Given the description of an element on the screen output the (x, y) to click on. 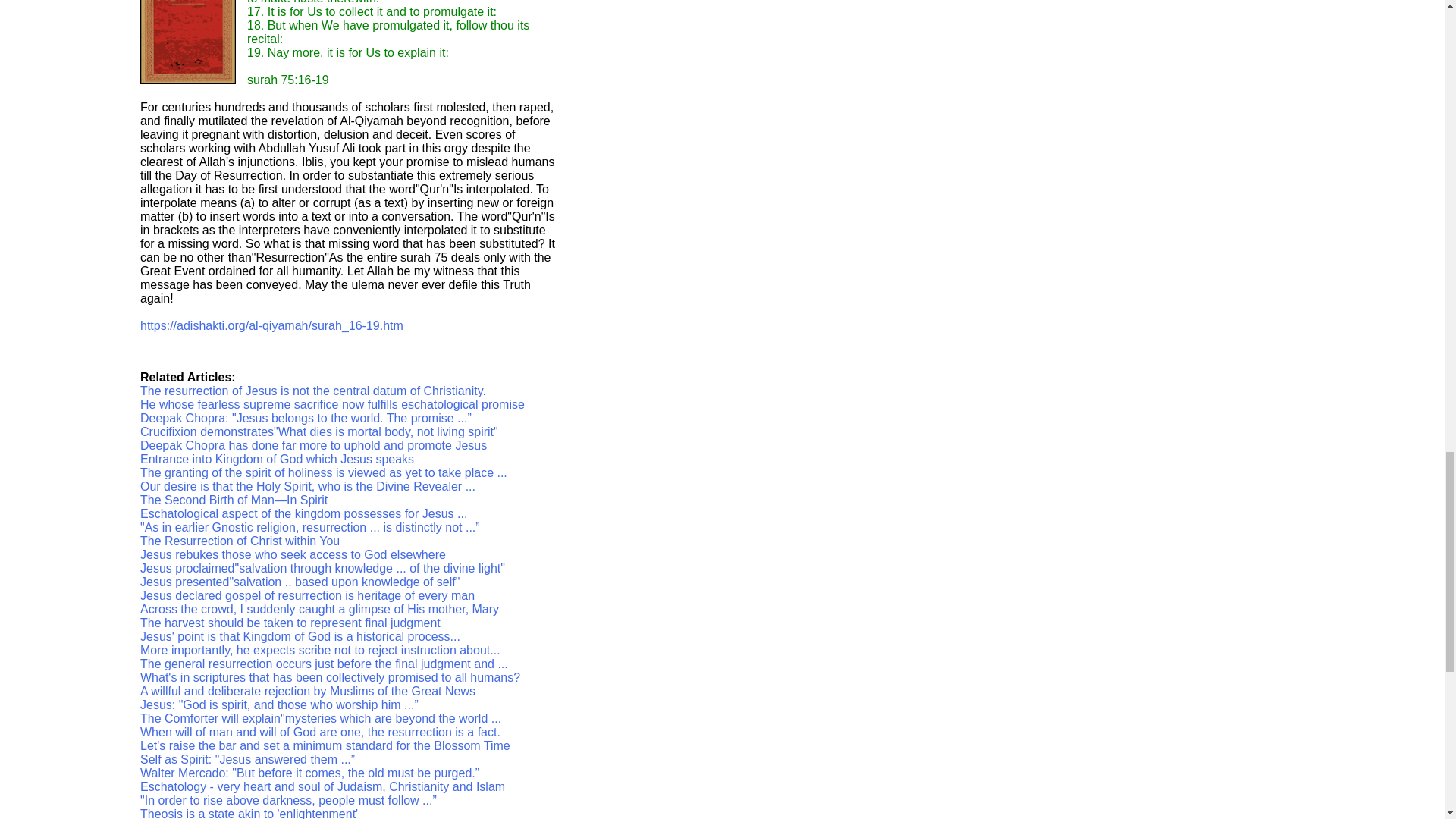
Jesus presented"salvation .. based upon knowledge of self" (299, 581)
The harvest should be taken to represent final judgment (290, 622)
Theosis is a state akin to 'enlightenment' (248, 813)
Deepak Chopra has done far more to uphold and promote Jesus (312, 445)
